Given the description of an element on the screen output the (x, y) to click on. 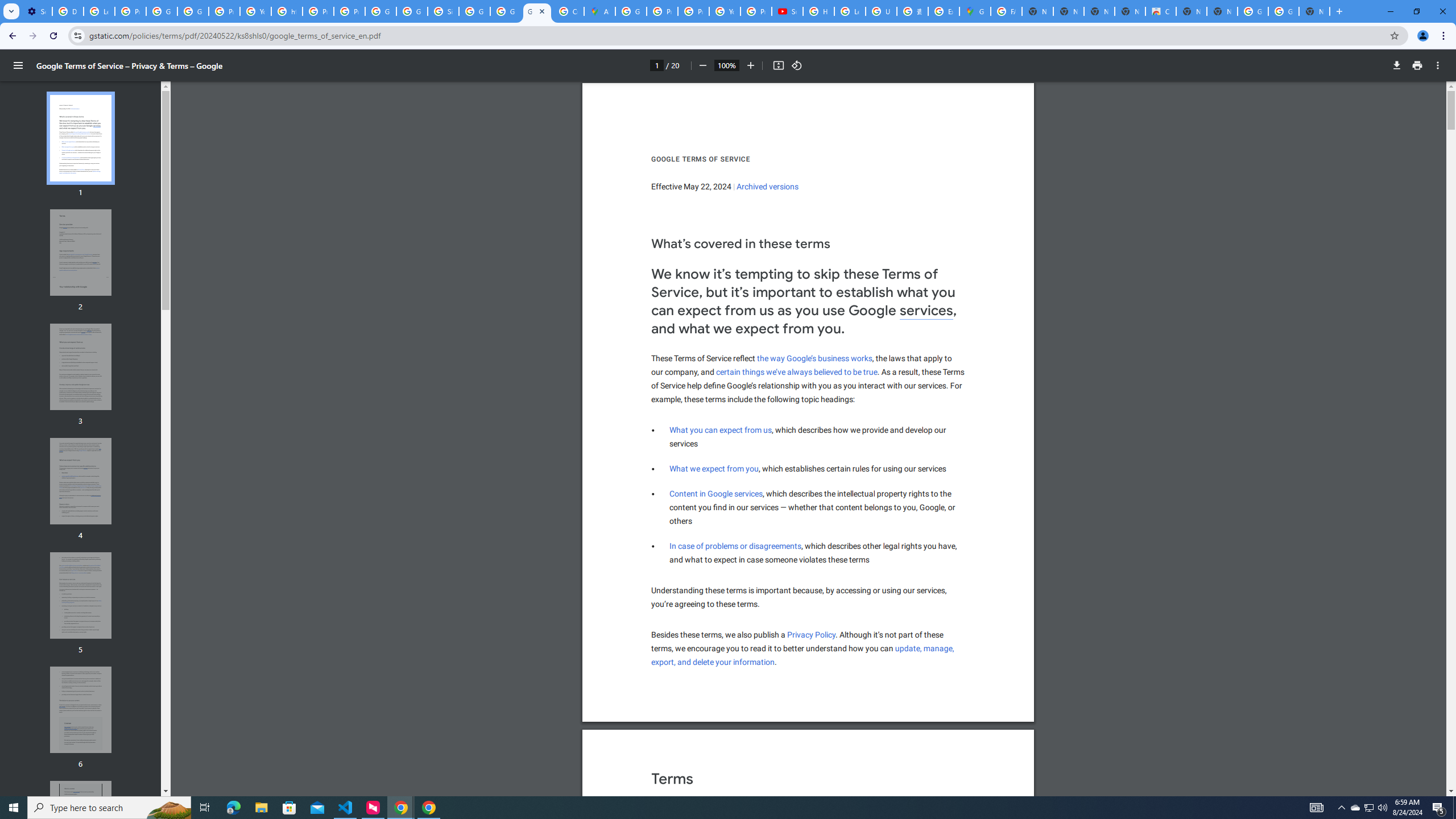
Download (1396, 65)
Chrome Web Store (1160, 11)
update, manage, (925, 648)
Fit to page (777, 65)
Page number (712, 662)
Privacy Help Center - Policies Help (656, 64)
